Given the description of an element on the screen output the (x, y) to click on. 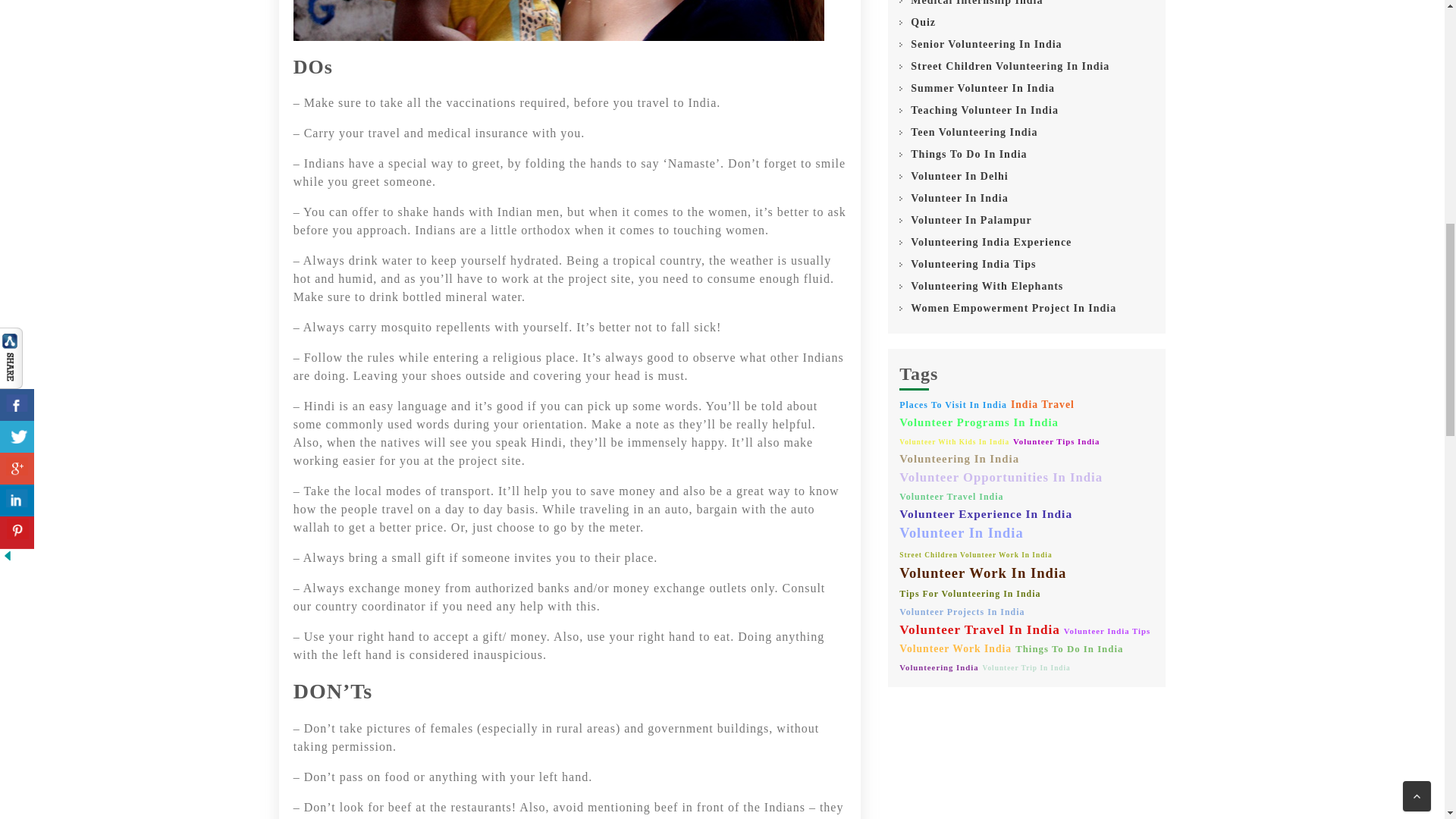
8 topics (978, 422)
4 topics (953, 405)
Things To Do In India (968, 154)
9 topics (985, 513)
Teaching Volunteer In India (984, 109)
13 topics (979, 629)
4 topics (962, 612)
Medical Internship India (976, 4)
6 topics (1042, 404)
Summer Volunteer In India (982, 88)
4 topics (970, 594)
Teen Volunteering India (973, 132)
17 topics (961, 533)
12 topics (1000, 476)
4 topics (951, 497)
